Given the description of an element on the screen output the (x, y) to click on. 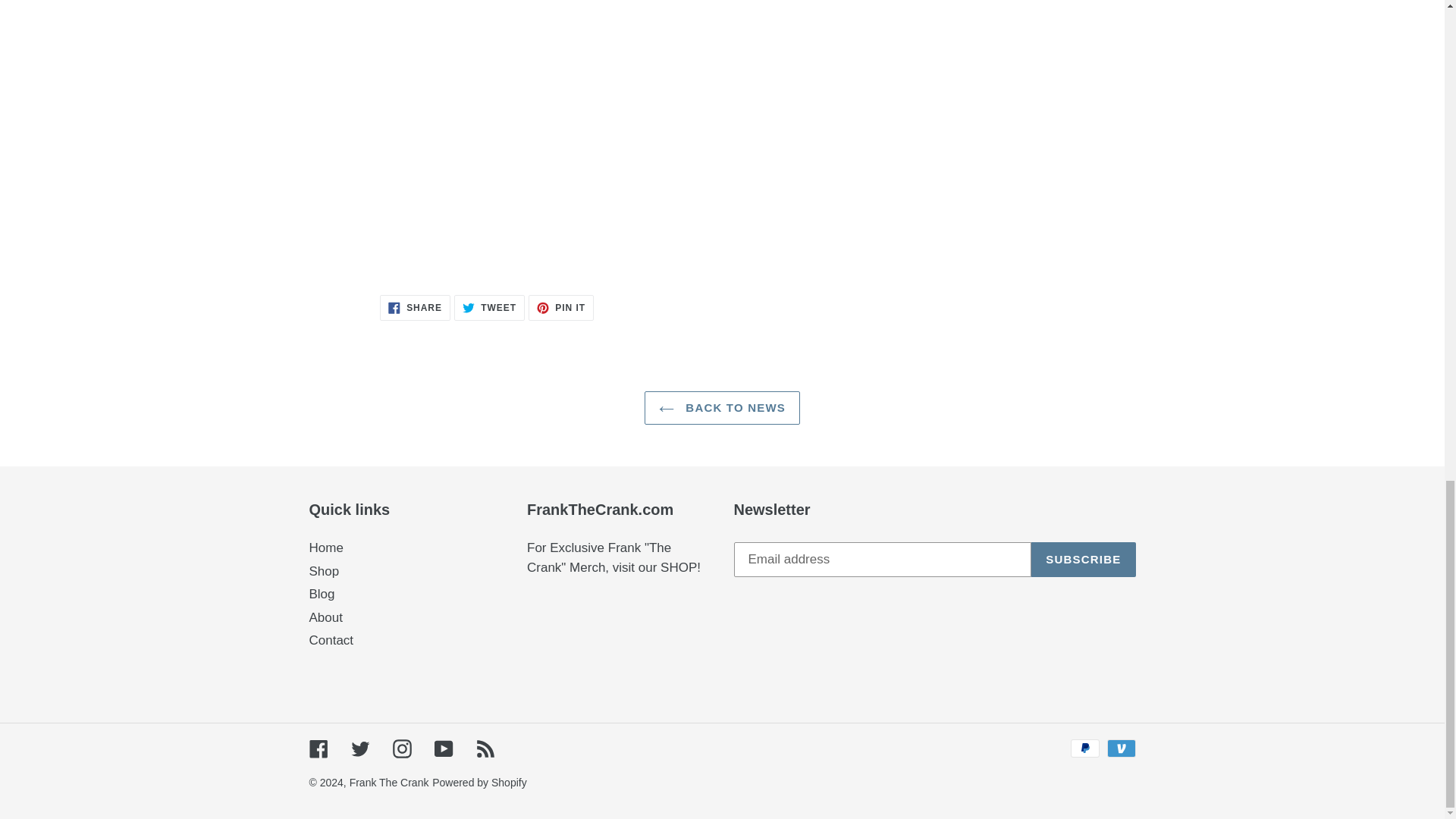
Home (325, 547)
BACK TO NEWS (722, 408)
About (325, 617)
Blog (561, 307)
Shop (321, 594)
YouTube video player (323, 571)
